Given the description of an element on the screen output the (x, y) to click on. 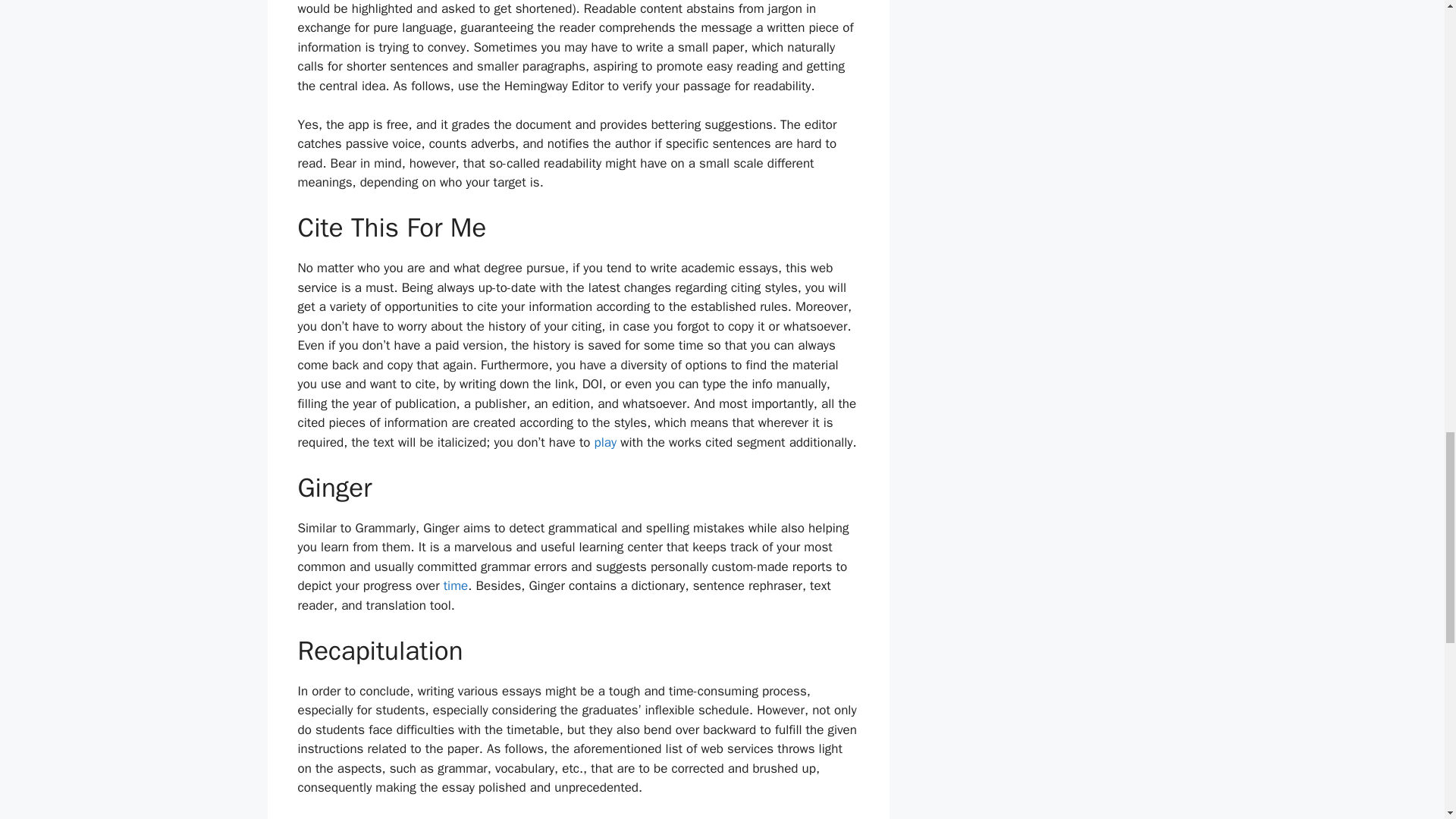
play (605, 442)
time (456, 585)
